Given the description of an element on the screen output the (x, y) to click on. 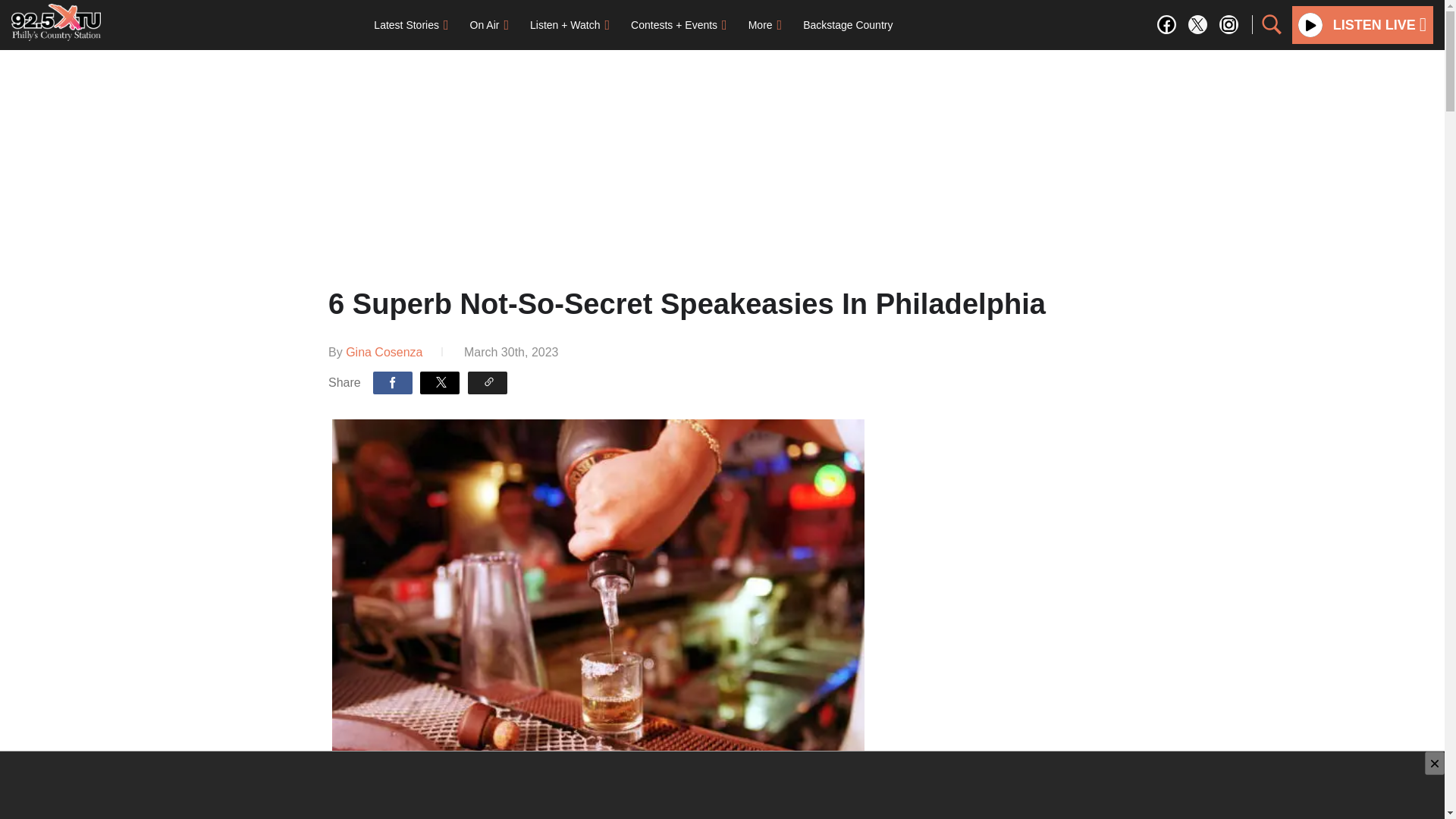
Latest Stories (410, 24)
Gina Cosenza (384, 351)
More (765, 24)
On Air (489, 24)
Close AdCheckmark indicating ad close (1434, 763)
